Given the description of an element on the screen output the (x, y) to click on. 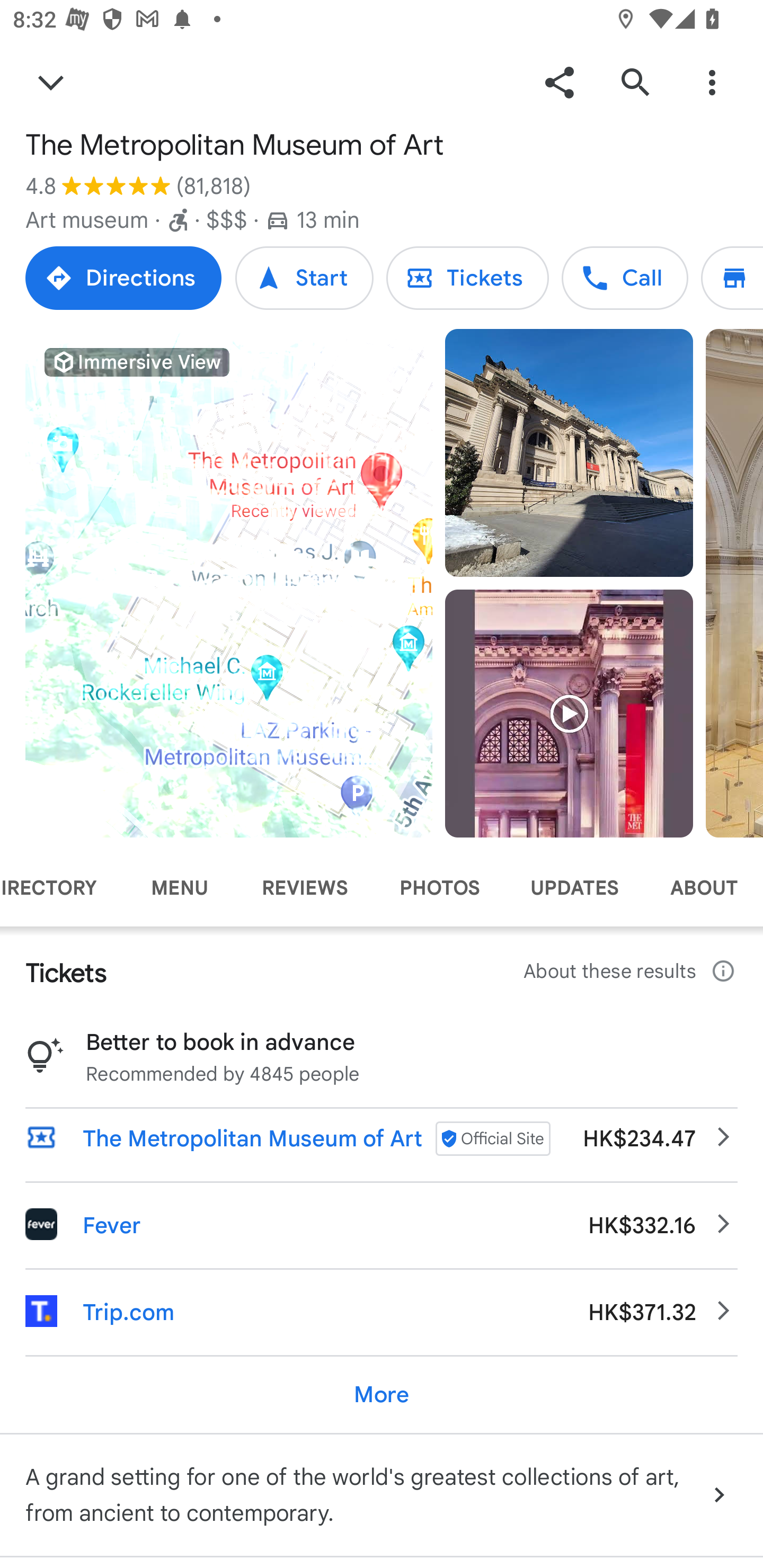
Back to Search (50, 81)
Share (559, 81)
Search (635, 81)
More options for The Metropolitan Museum of Art (711, 81)
Start Start Start (304, 277)
Tickets (467, 277)
Directory Directory Directory (732, 277)
Video Immersive View (228, 583)
Photo (568, 453)
Video (568, 713)
DIRECTORY Directory (61, 887)
MENU Menu (179, 887)
REVIEWS Reviews (304, 887)
PHOTOS Photos (439, 887)
UPDATES Updates (574, 887)
ABOUT About (703, 887)
About these results (630, 970)
Fever HK$332.16 (381, 1225)
Trip.com HK$371.32 (381, 1312)
More More More (381, 1394)
